Given the description of an element on the screen output the (x, y) to click on. 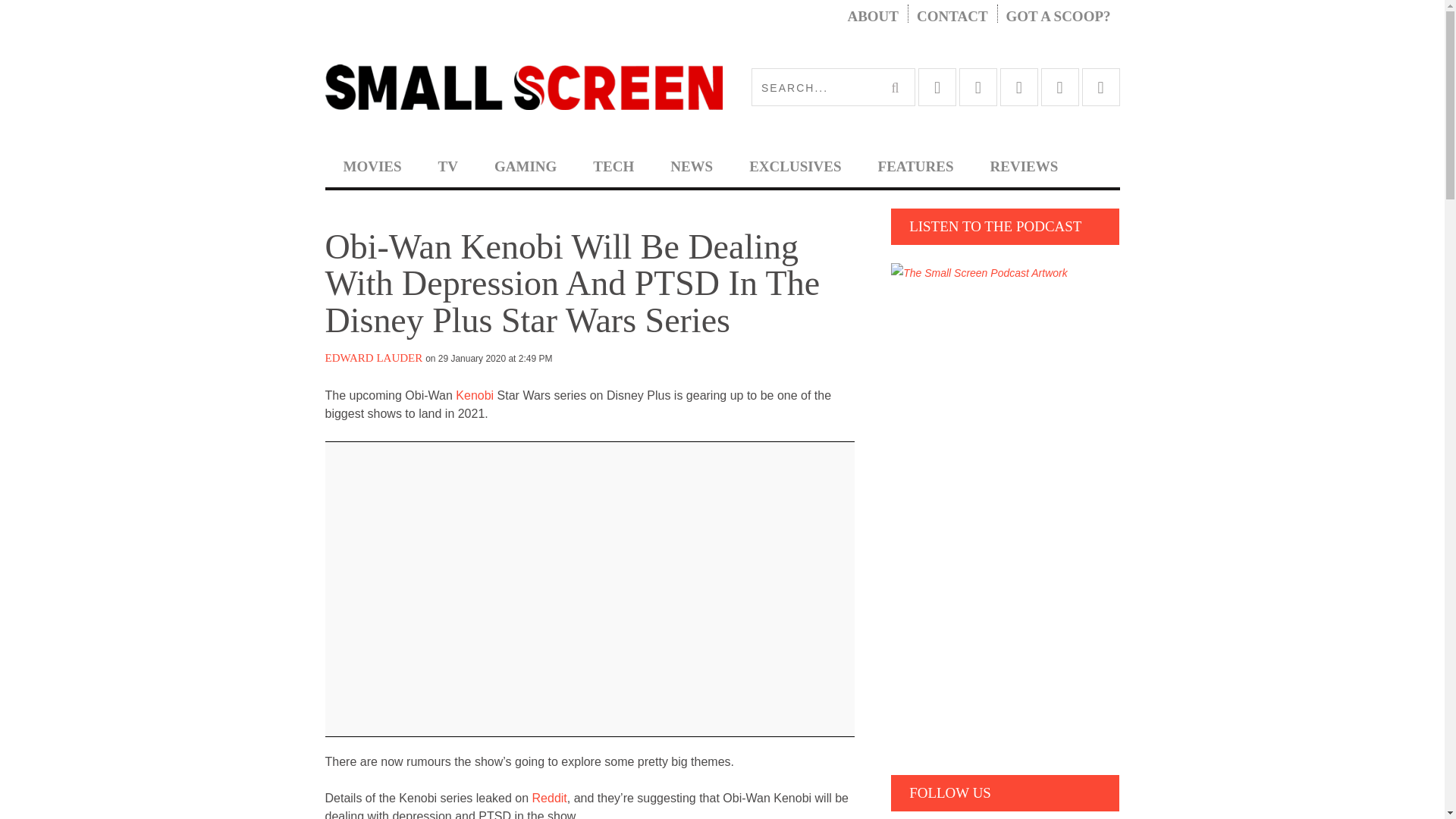
CONTACT (952, 16)
GOT A SCOOP? (1058, 16)
Small Screen (523, 86)
ABOUT (872, 16)
Posts by Edward Lauder (373, 357)
